Given the description of an element on the screen output the (x, y) to click on. 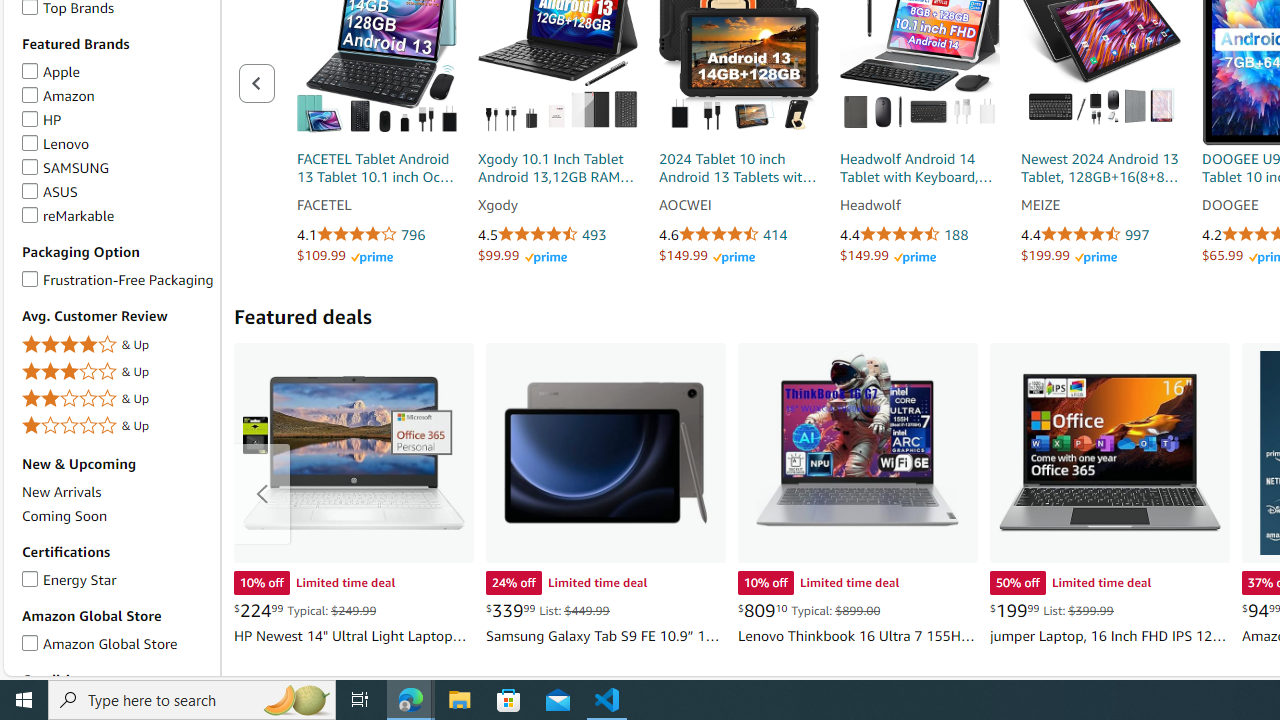
AOCWEI (739, 205)
Amazon Global Store Amazon Global Store (99, 642)
1 Star & Up (117, 425)
2 Stars & Up (117, 399)
$99.99 Amazon Prime (522, 255)
4 Stars & Up& Up (117, 345)
$109.99 Amazon Prime (345, 255)
Apple (29, 67)
